Given the description of an element on the screen output the (x, y) to click on. 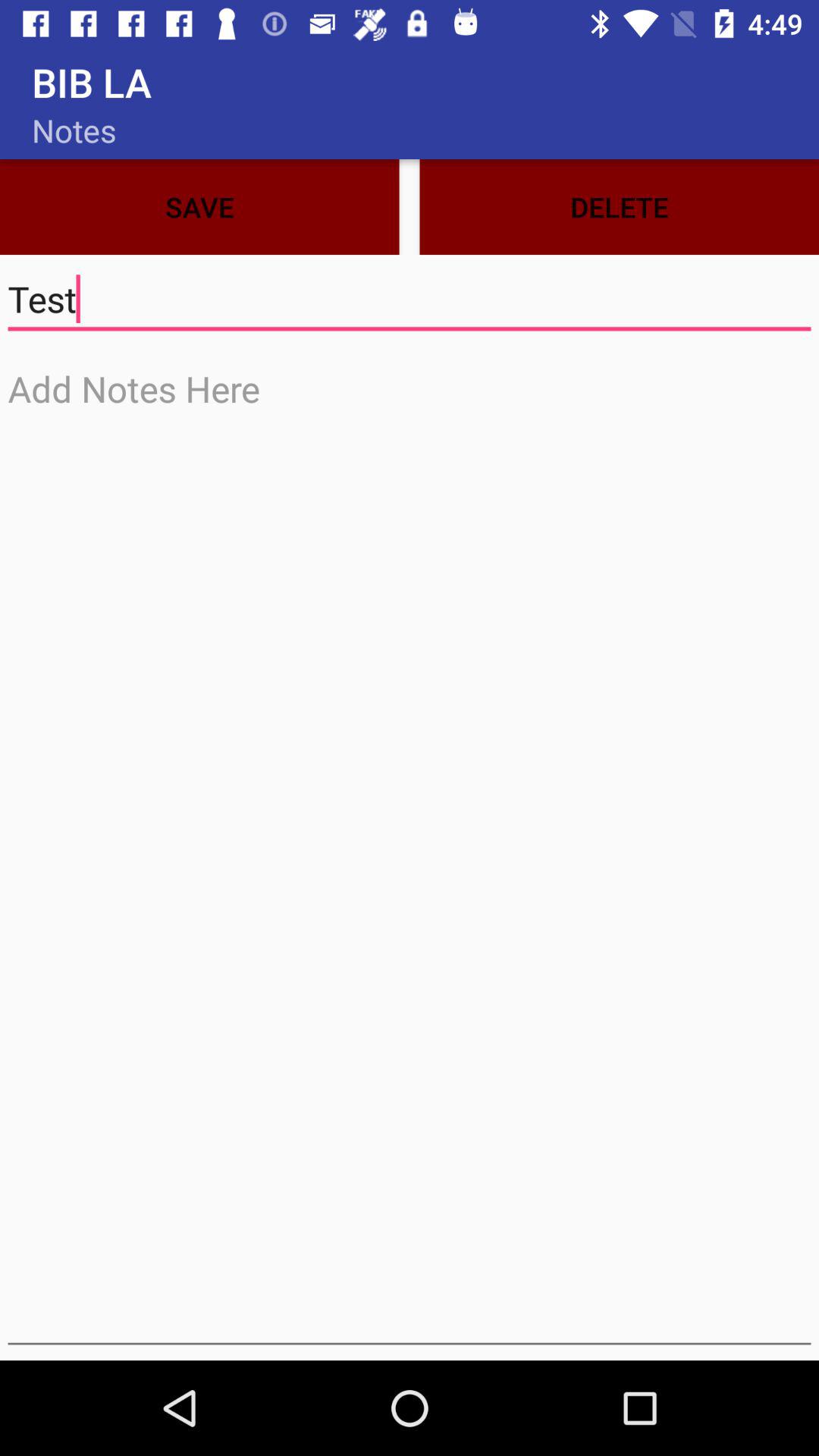
turn on delete (619, 206)
